Given the description of an element on the screen output the (x, y) to click on. 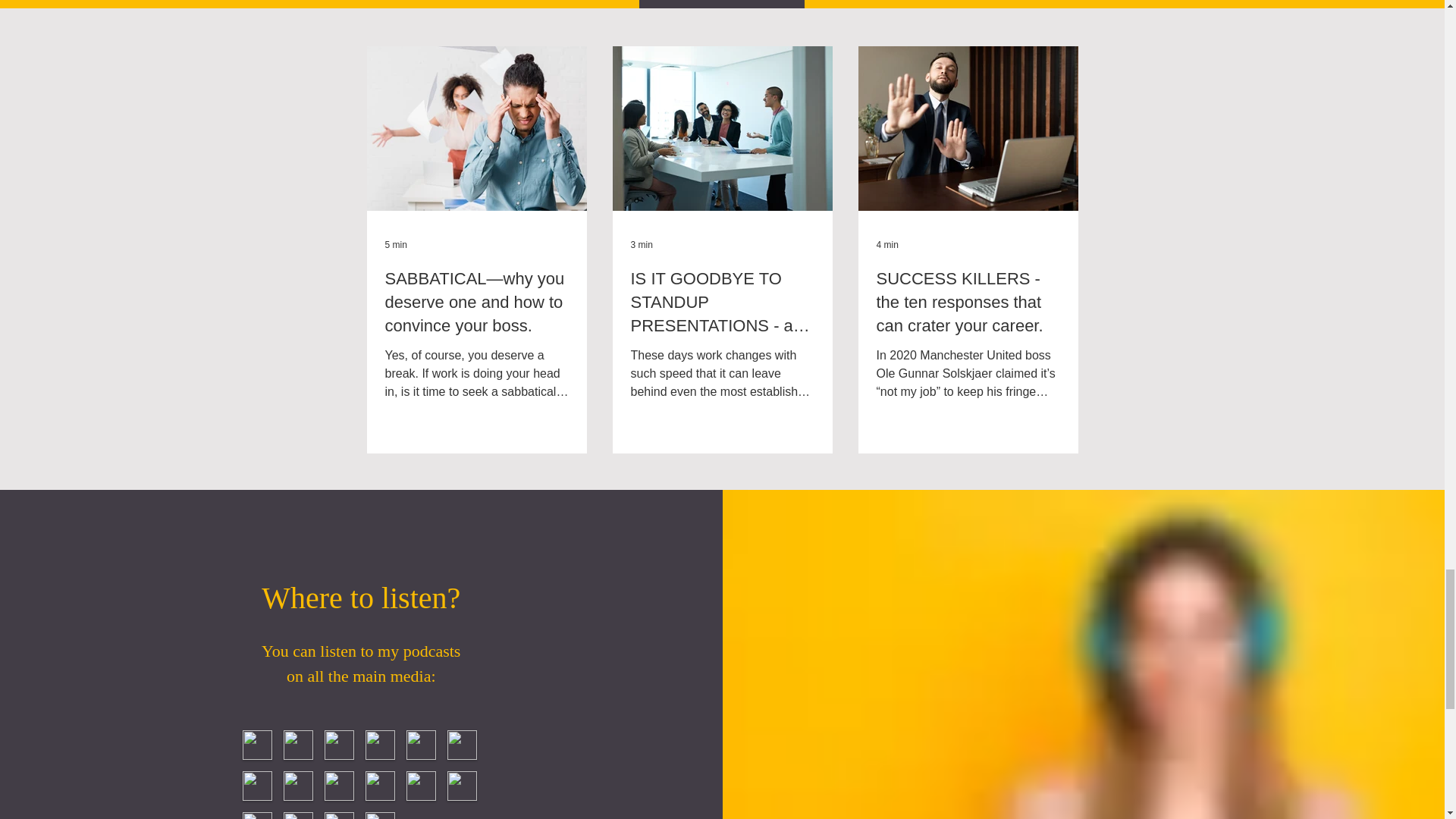
4 min (887, 244)
3 min (641, 244)
5 min (396, 244)
BACK TO BLOG (721, 4)
